Given the description of an element on the screen output the (x, y) to click on. 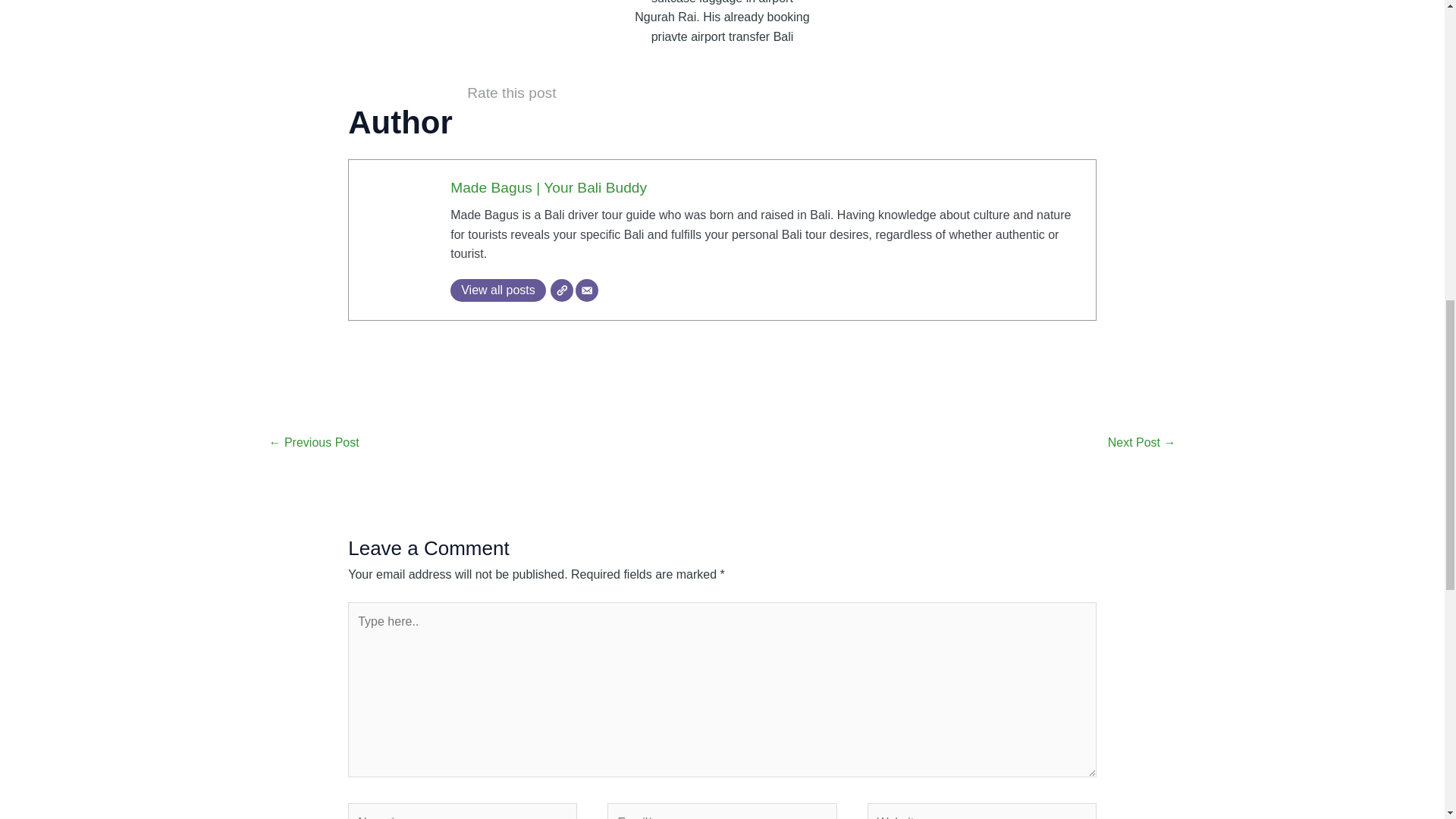
Bali Airport Transfers (397, 208)
View all posts (497, 290)
Denpasar Airport to Ubud (1142, 443)
Gates Of Heaven Bali Tour (312, 443)
View all posts (497, 290)
